Given the description of an element on the screen output the (x, y) to click on. 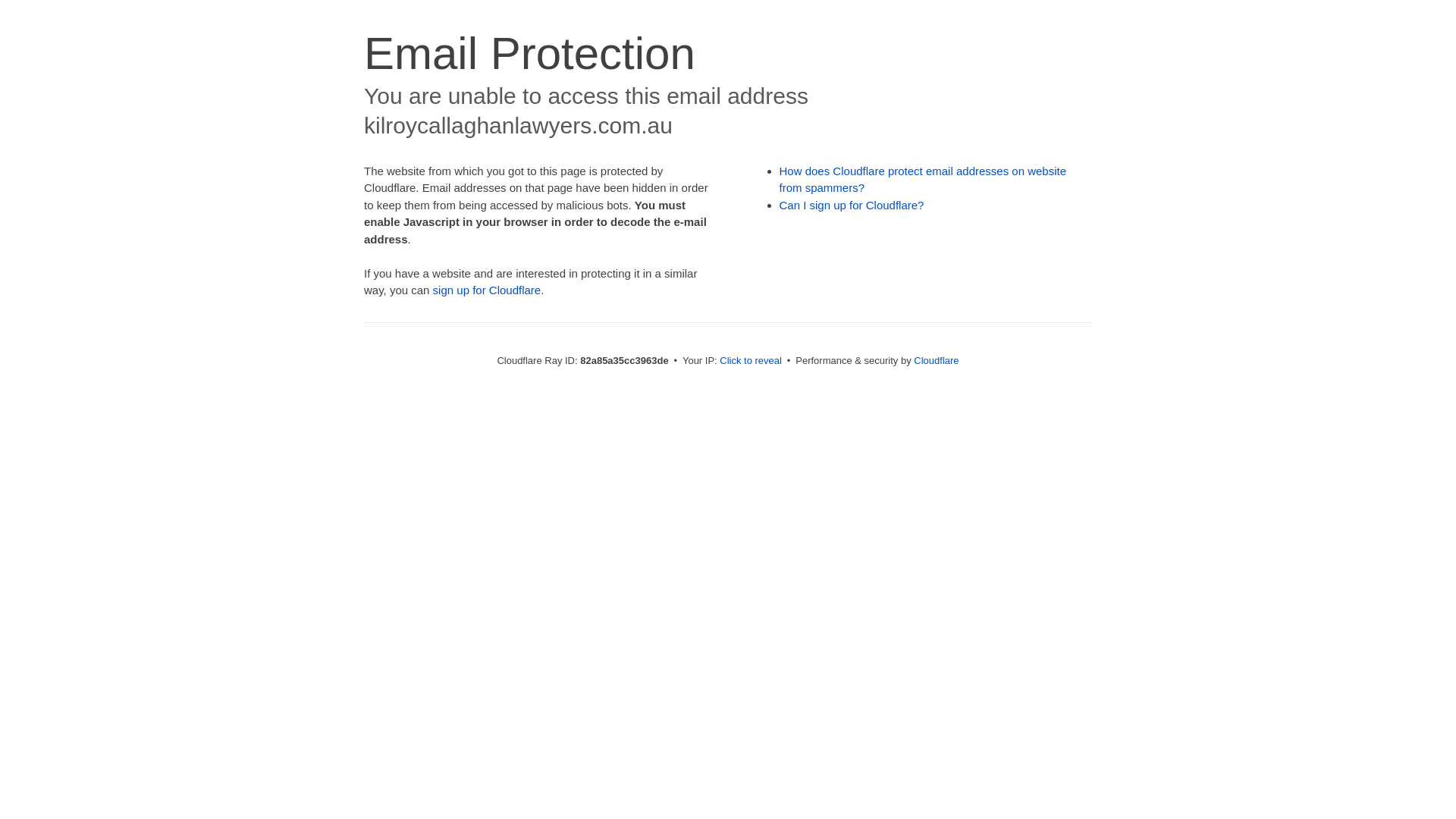
Cloudflare Element type: text (935, 360)
sign up for Cloudflare Element type: text (487, 289)
Can I sign up for Cloudflare? Element type: text (851, 204)
Click to reveal Element type: text (750, 360)
